Given the description of an element on the screen output the (x, y) to click on. 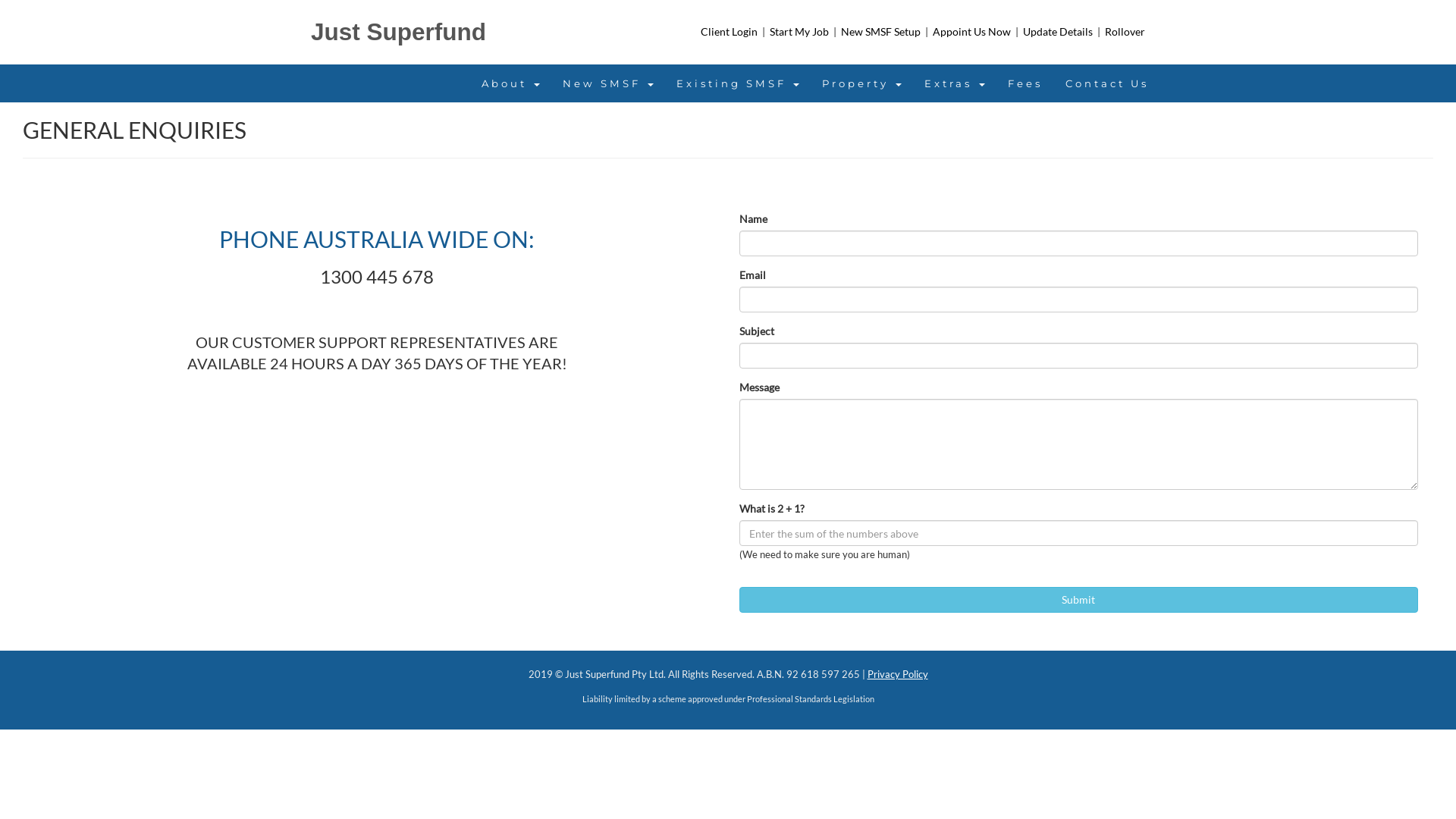
Update Details Element type: text (1058, 31)
Fees Element type: text (1025, 83)
Appoint Us Now Element type: text (972, 31)
Submit Element type: text (1078, 599)
Extras Element type: text (954, 83)
New SMSF Element type: text (608, 83)
Existing SMSF Element type: text (737, 83)
About Element type: text (510, 83)
Property Element type: text (861, 83)
Privacy Policy Element type: text (897, 674)
Just Superfund Element type: text (398, 31)
Start My Job Element type: text (800, 31)
Client Login Element type: text (729, 31)
New SMSF Setup Element type: text (881, 31)
Contact Us Element type: text (1107, 83)
Rollover Element type: text (1124, 31)
